Given the description of an element on the screen output the (x, y) to click on. 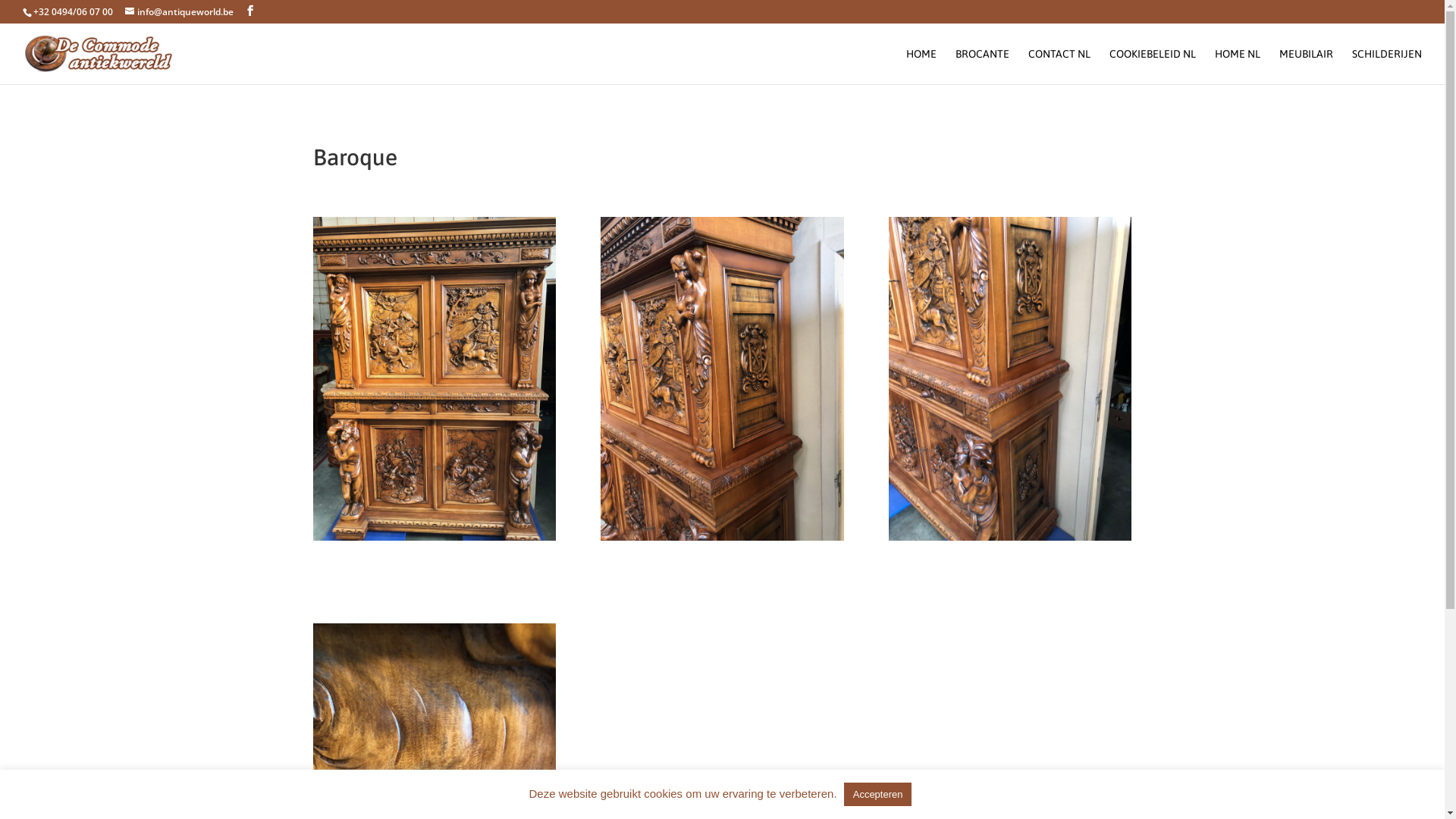
SCHILDERIJEN Element type: text (1386, 66)
info@antiqueworld.be Element type: text (179, 11)
Accepteren Element type: text (878, 794)
BROCANTE Element type: text (982, 66)
COOKIEBELEID NL Element type: text (1152, 66)
HOME Element type: text (921, 66)
MEUBILAIR Element type: text (1306, 66)
CONTACT NL Element type: text (1059, 66)
HOME NL Element type: text (1237, 66)
